Given the description of an element on the screen output the (x, y) to click on. 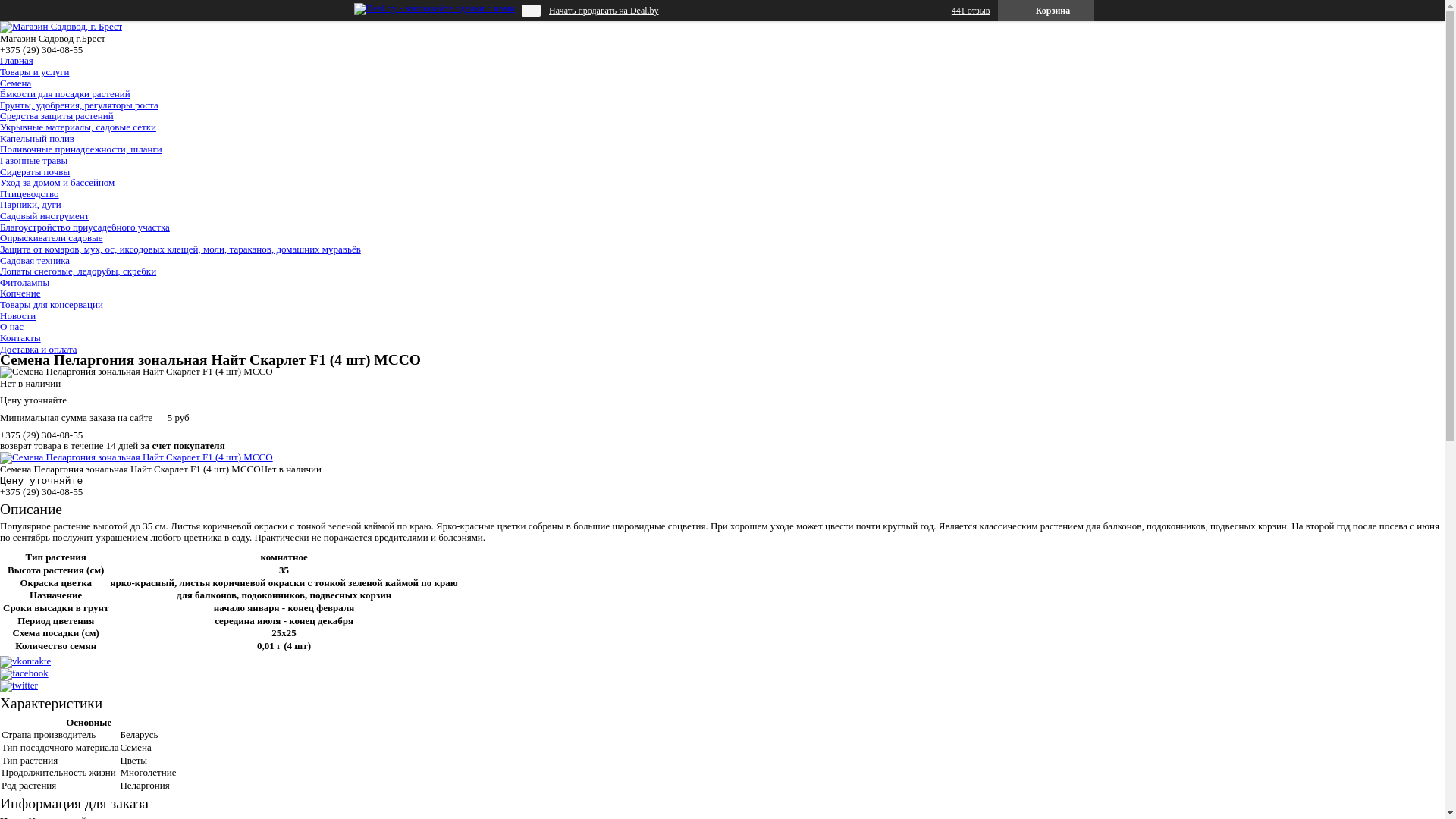
twitter Element type: hover (18, 684)
facebook Element type: hover (24, 672)
